Given the description of an element on the screen output the (x, y) to click on. 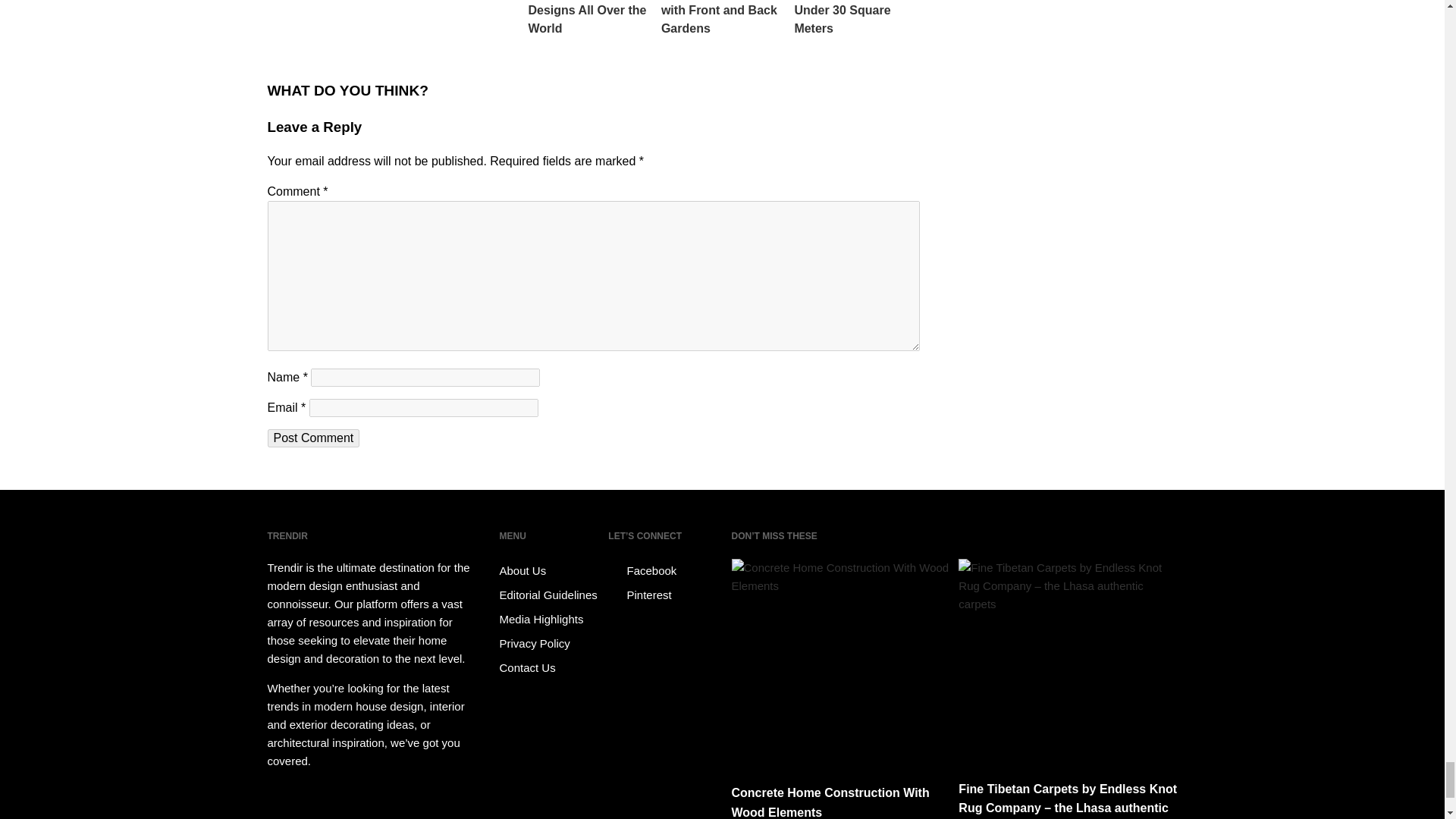
Modern House Designs All Over the World (589, 18)
24 Micro Apartments Under 30 Square Meters (855, 18)
Sleek Cubic House with Front and Back Gardens (723, 18)
About Us - Trendir (551, 570)
Post Comment (312, 438)
Modern House Designs All Over the World (589, 18)
Sleek Cubic House with Front and Back Gardens (723, 18)
Media Highlights - Trendir (551, 619)
Trendir Editorial Guidelines (551, 595)
24 Micro Apartments Under 30 Square Meters (855, 18)
